Given the description of an element on the screen output the (x, y) to click on. 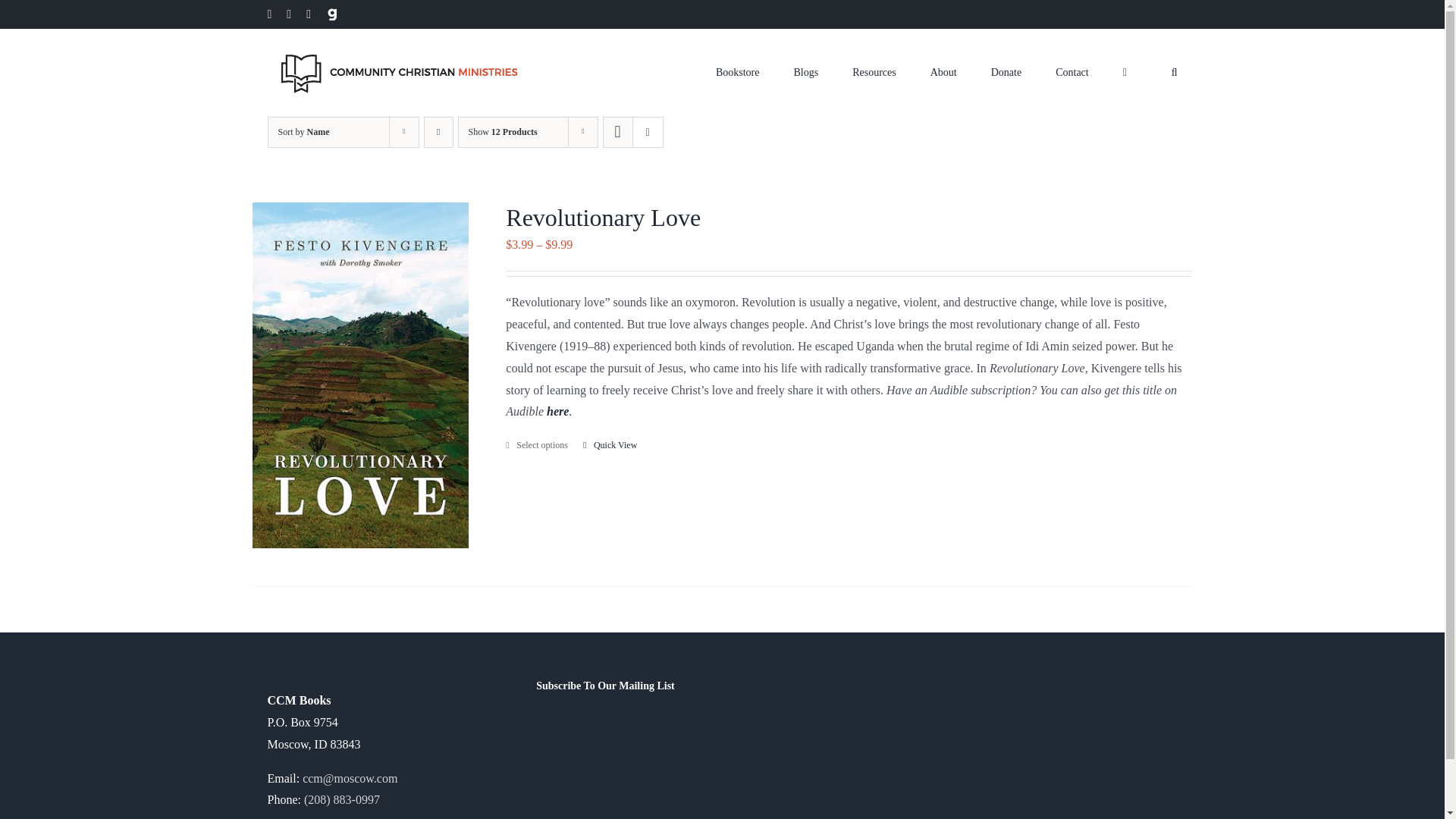
Facebook (268, 14)
Facebook (268, 14)
Show 12 Products (502, 131)
X (308, 14)
Revolutionary Love (602, 216)
Donate (1006, 70)
Blogs (805, 70)
Gab (331, 14)
X (308, 14)
About (943, 70)
Resources (873, 70)
Bookstore (738, 70)
Instagram (288, 14)
Instagram (288, 14)
